Given the description of an element on the screen output the (x, y) to click on. 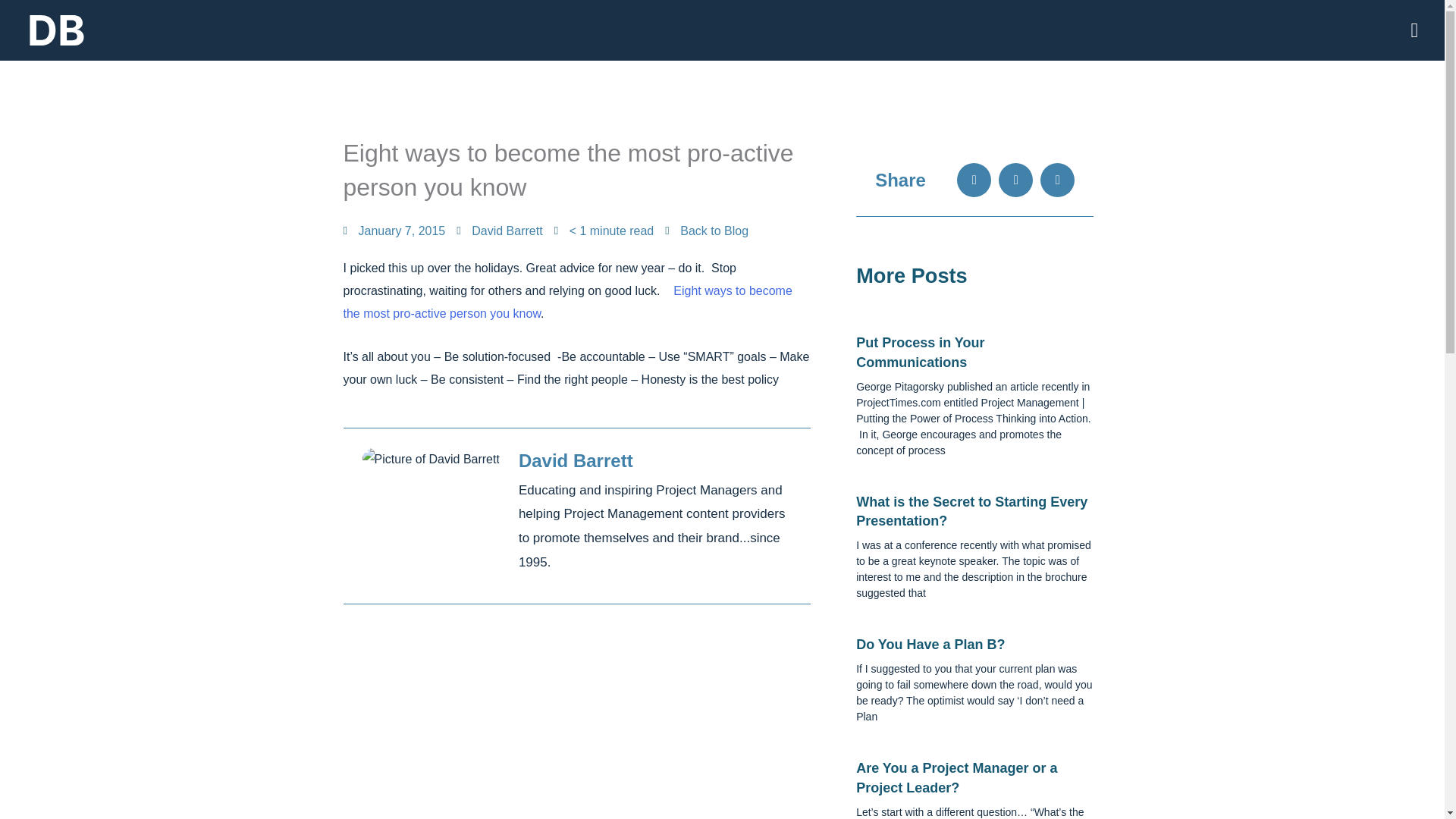
Eight ways to become the most pro-active person you know (567, 302)
Are You a Project Manager or a Project Leader? (956, 777)
Back to Blog (706, 231)
Do You Have a Plan B? (930, 644)
Put Process in Your Communications (920, 351)
What is the Secret to Starting Every Presentation? (971, 511)
